Given the description of an element on the screen output the (x, y) to click on. 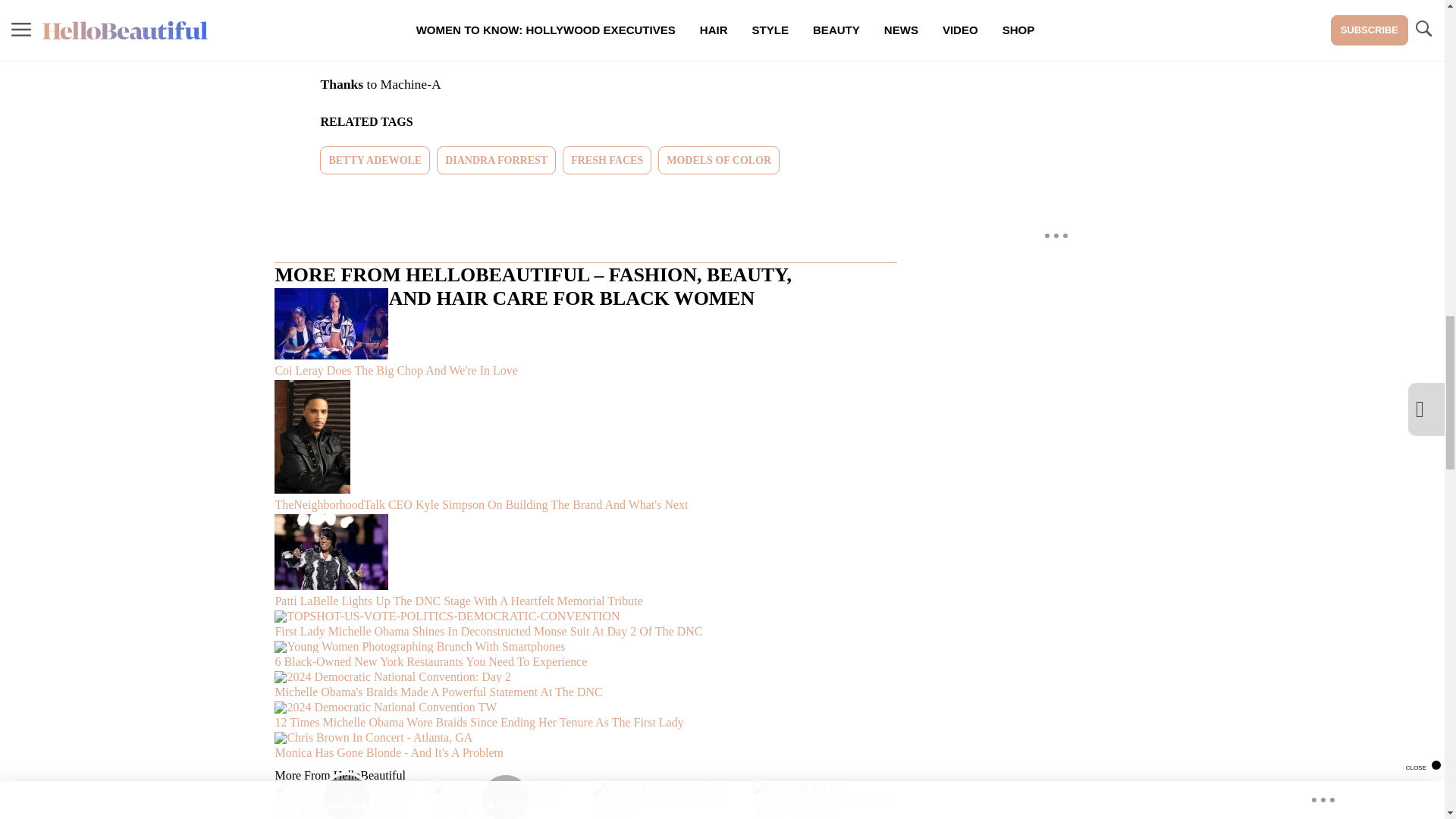
Coi Leray Does The Big Chop And We're In Love (585, 334)
BETTY ADEWOLE (374, 160)
DIANDRA FORREST (496, 160)
FRESH FACES (606, 160)
Media Playlist (346, 795)
MODELS OF COLOR (718, 160)
Media Playlist (505, 795)
